Given the description of an element on the screen output the (x, y) to click on. 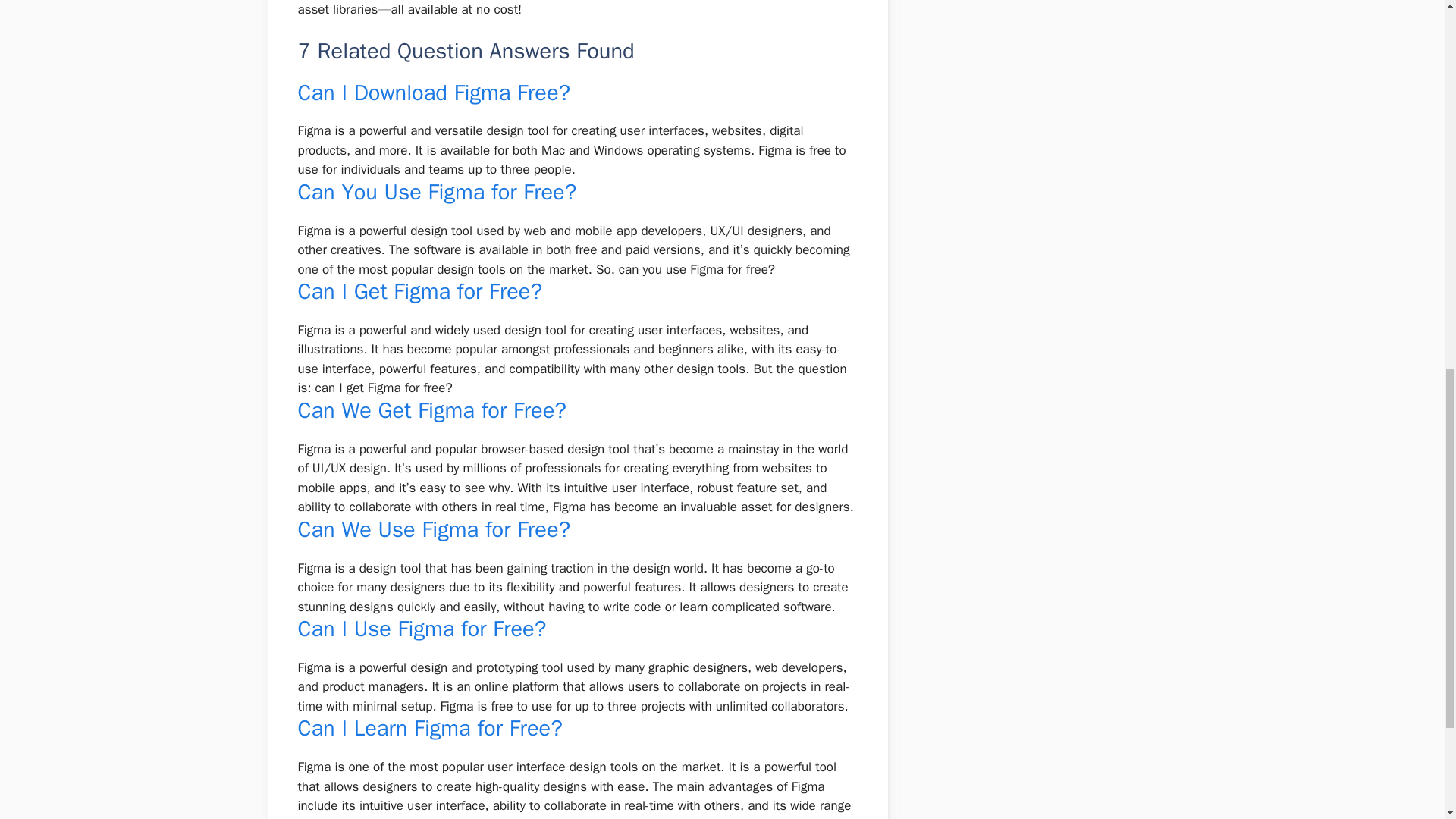
Can I Use Figma for Free? (421, 628)
Can We Use Figma for Free? (433, 529)
Can We Get Figma for Free? (431, 410)
Can I Learn Figma for Free? (429, 728)
Can You Use Figma for Free? (436, 192)
Can I Download Figma Free? (433, 92)
Can I Get Figma for Free? (419, 291)
